Given the description of an element on the screen output the (x, y) to click on. 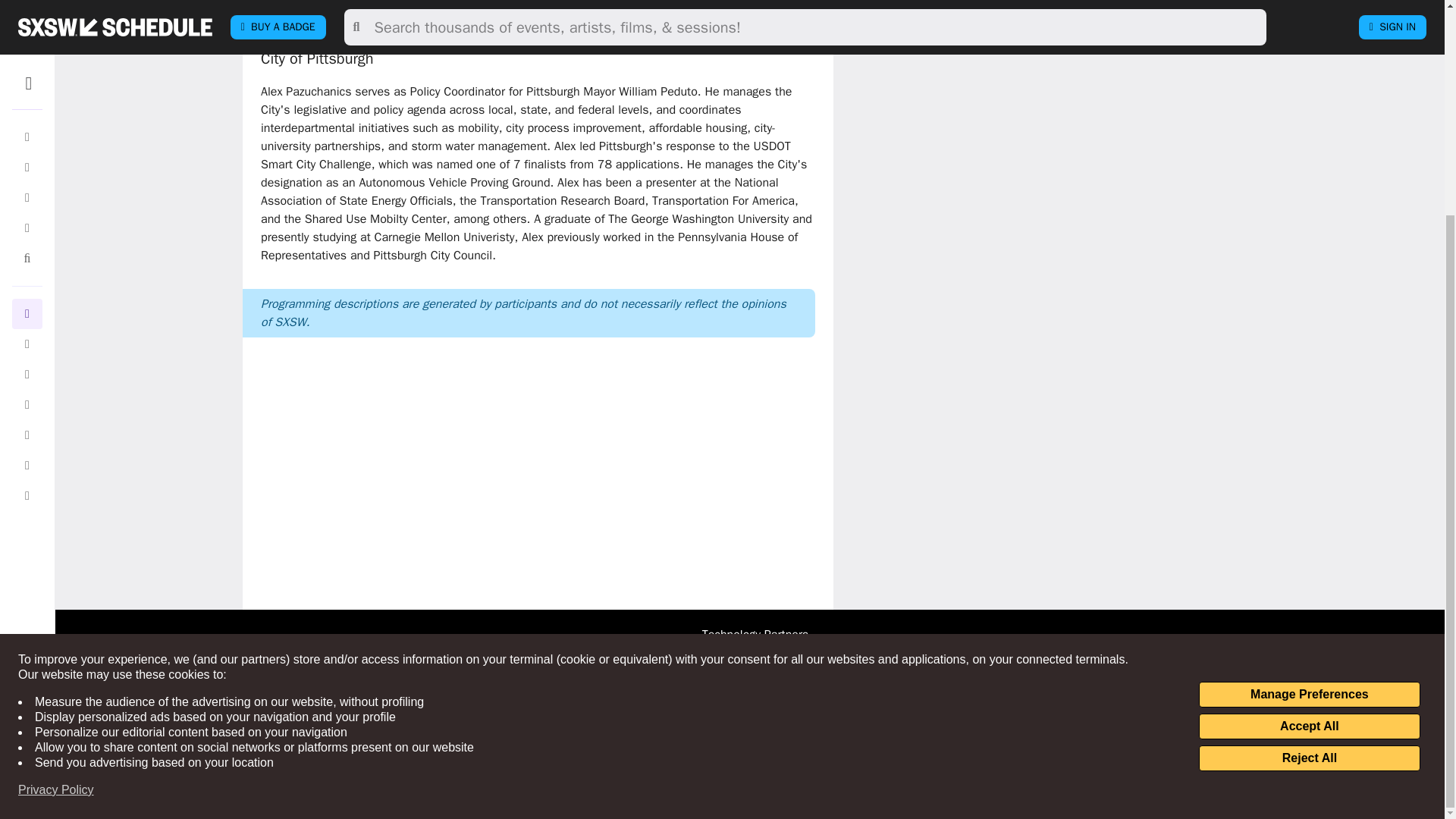
Manage Preferences (1309, 412)
Reject All (1309, 475)
Privacy Policy (55, 507)
Accept All (1309, 444)
